Given the description of an element on the screen output the (x, y) to click on. 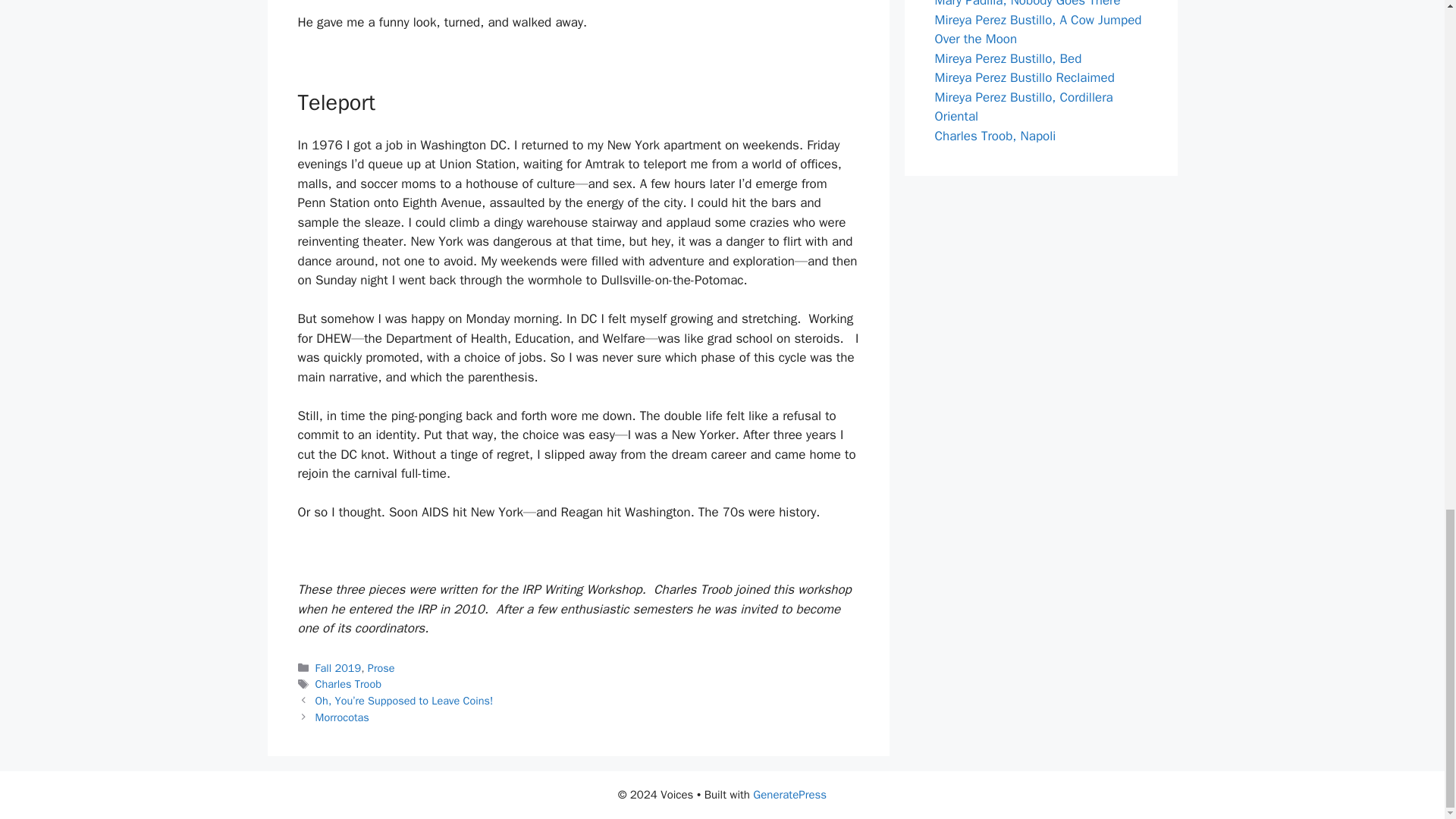
Fall 2019 (338, 667)
Prose (381, 667)
Charles Troob (348, 684)
Morrocotas (342, 716)
